Given the description of an element on the screen output the (x, y) to click on. 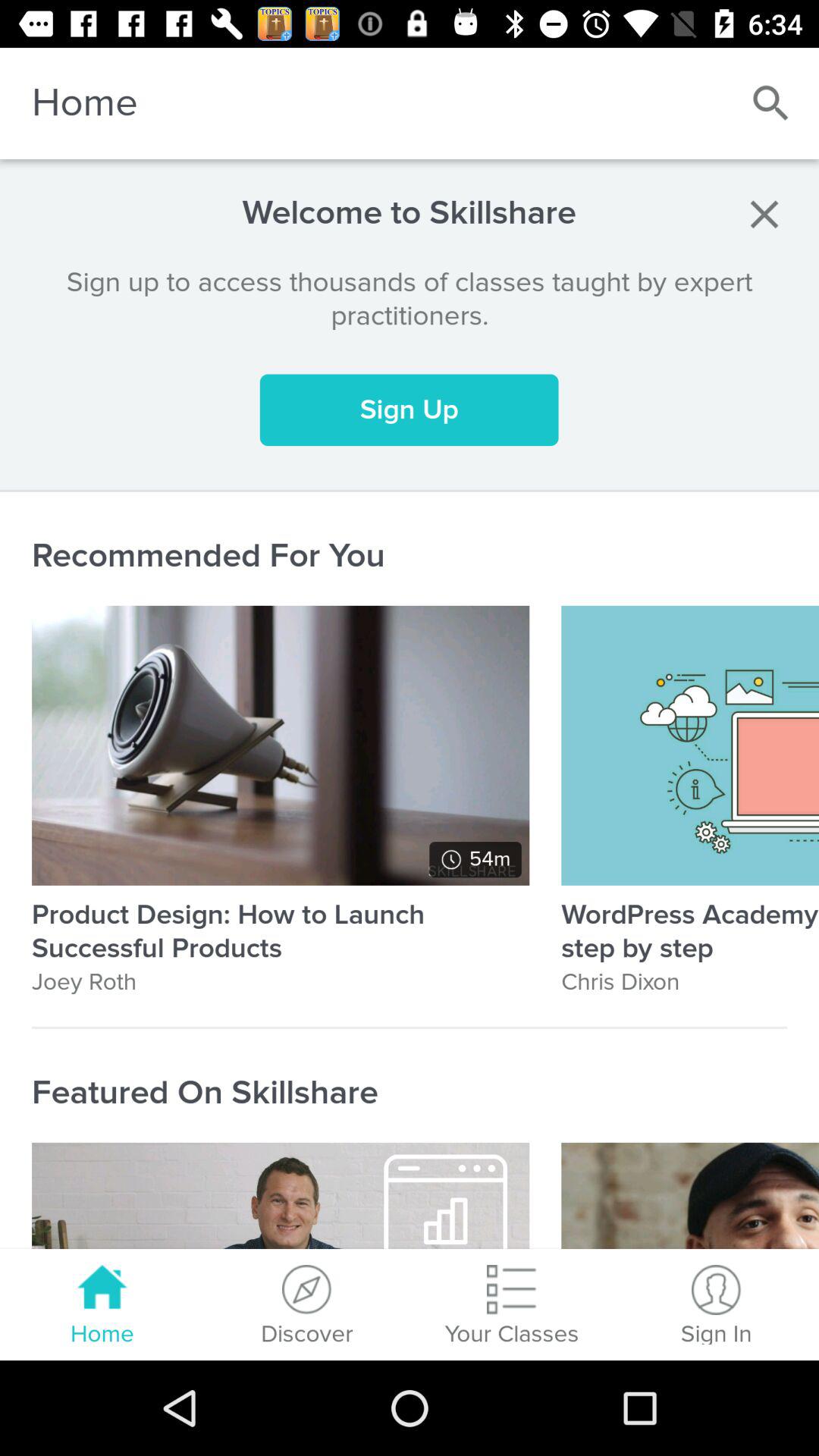
close signup message (764, 214)
